Given the description of an element on the screen output the (x, y) to click on. 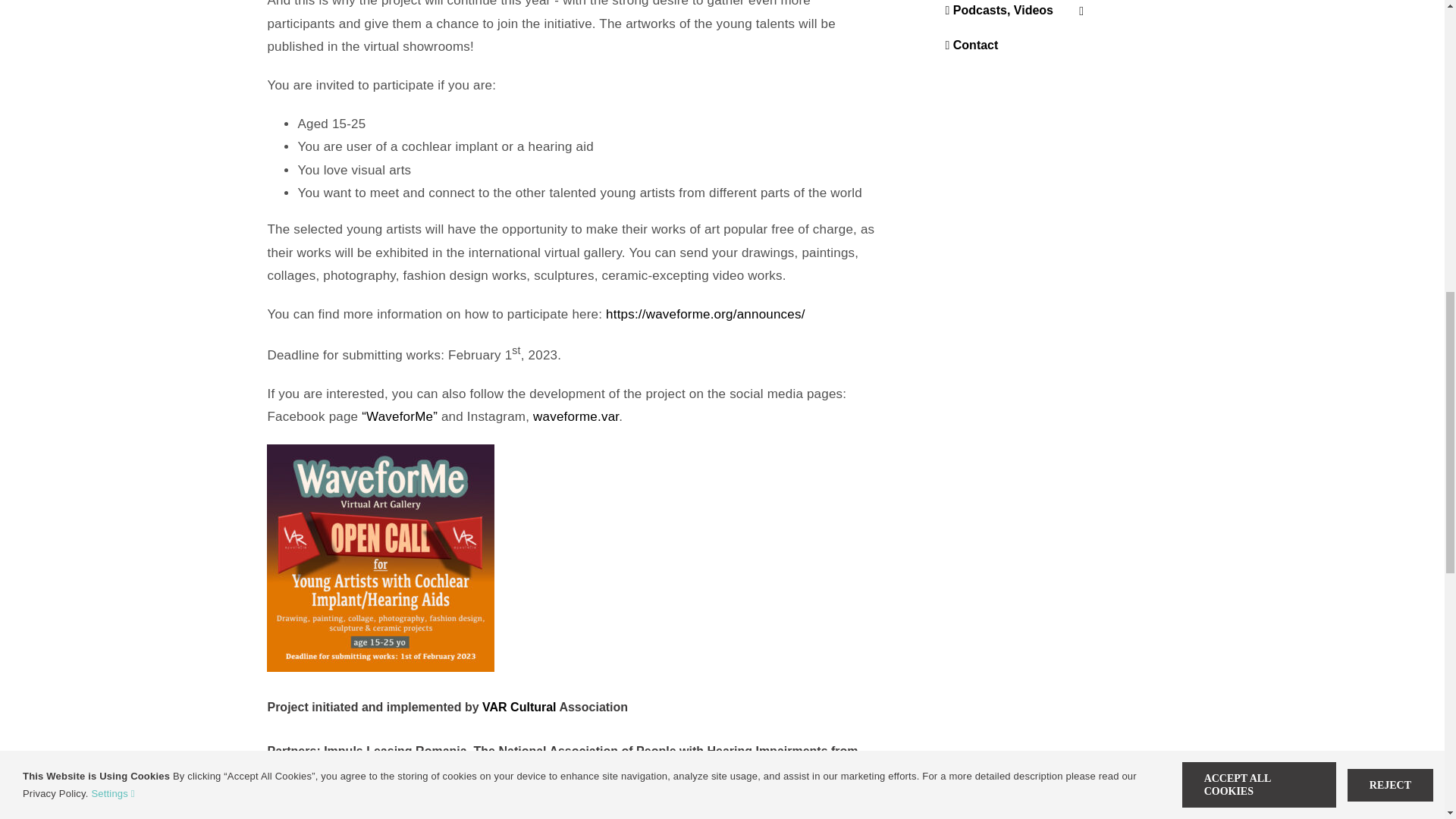
waveforme.var (575, 416)
VAR Cultural (518, 707)
